Given the description of an element on the screen output the (x, y) to click on. 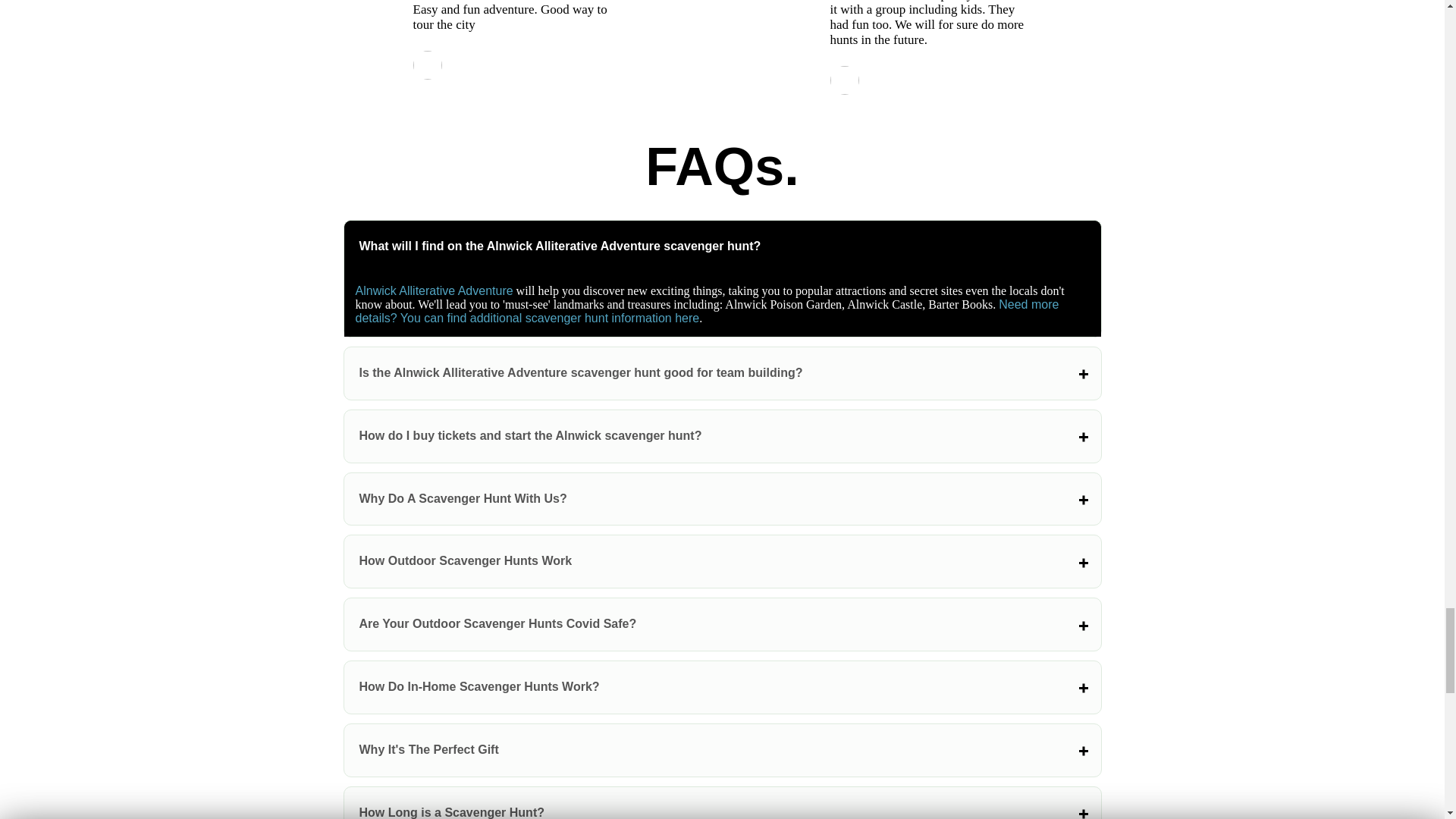
Alnwick Alliterative Adventure (433, 290)
